Given the description of an element on the screen output the (x, y) to click on. 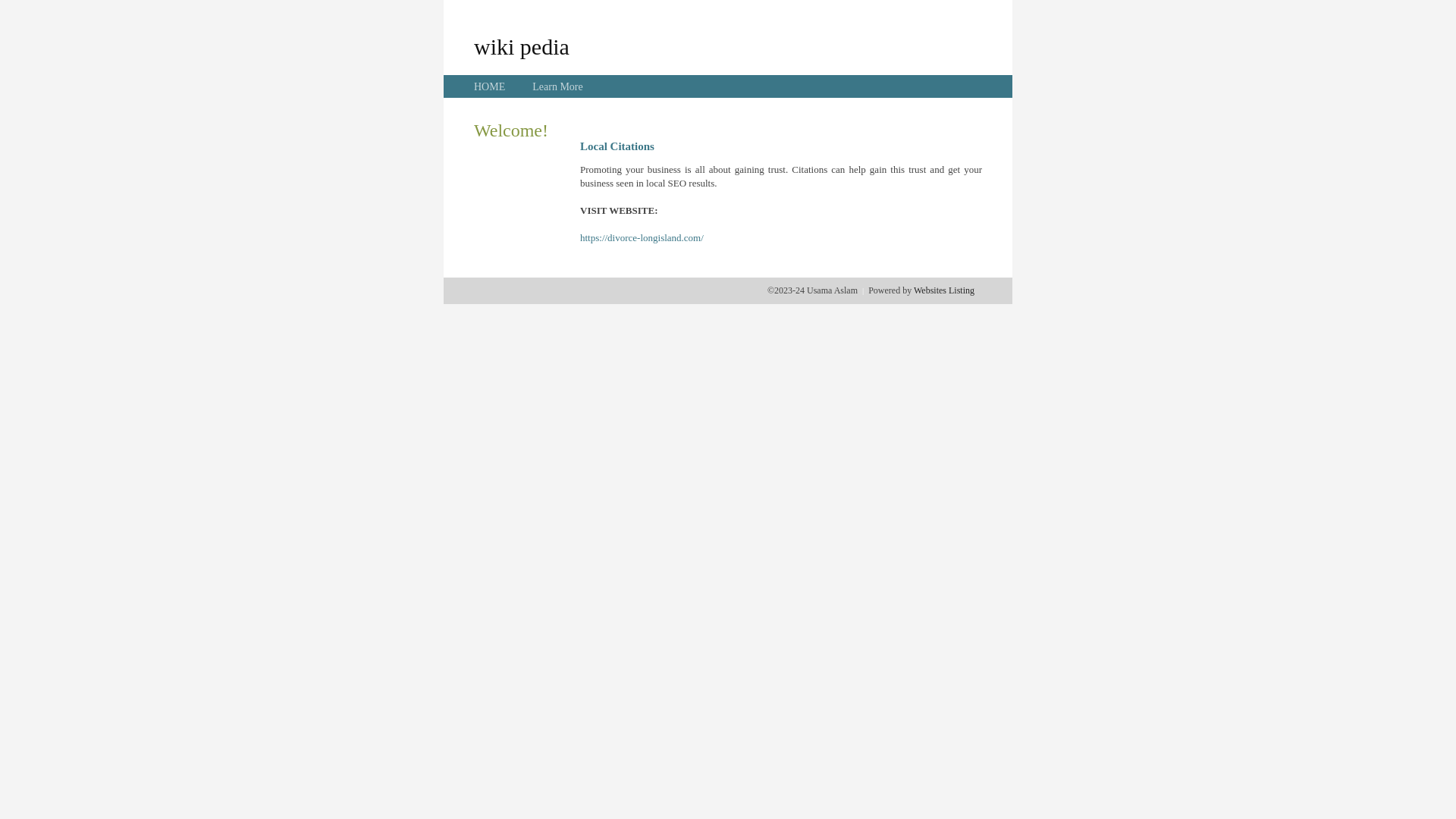
wiki pedia Element type: text (521, 46)
https://divorce-longisland.com/ Element type: text (641, 237)
Learn More Element type: text (557, 86)
HOME Element type: text (489, 86)
Websites Listing Element type: text (943, 290)
